Given the description of an element on the screen output the (x, y) to click on. 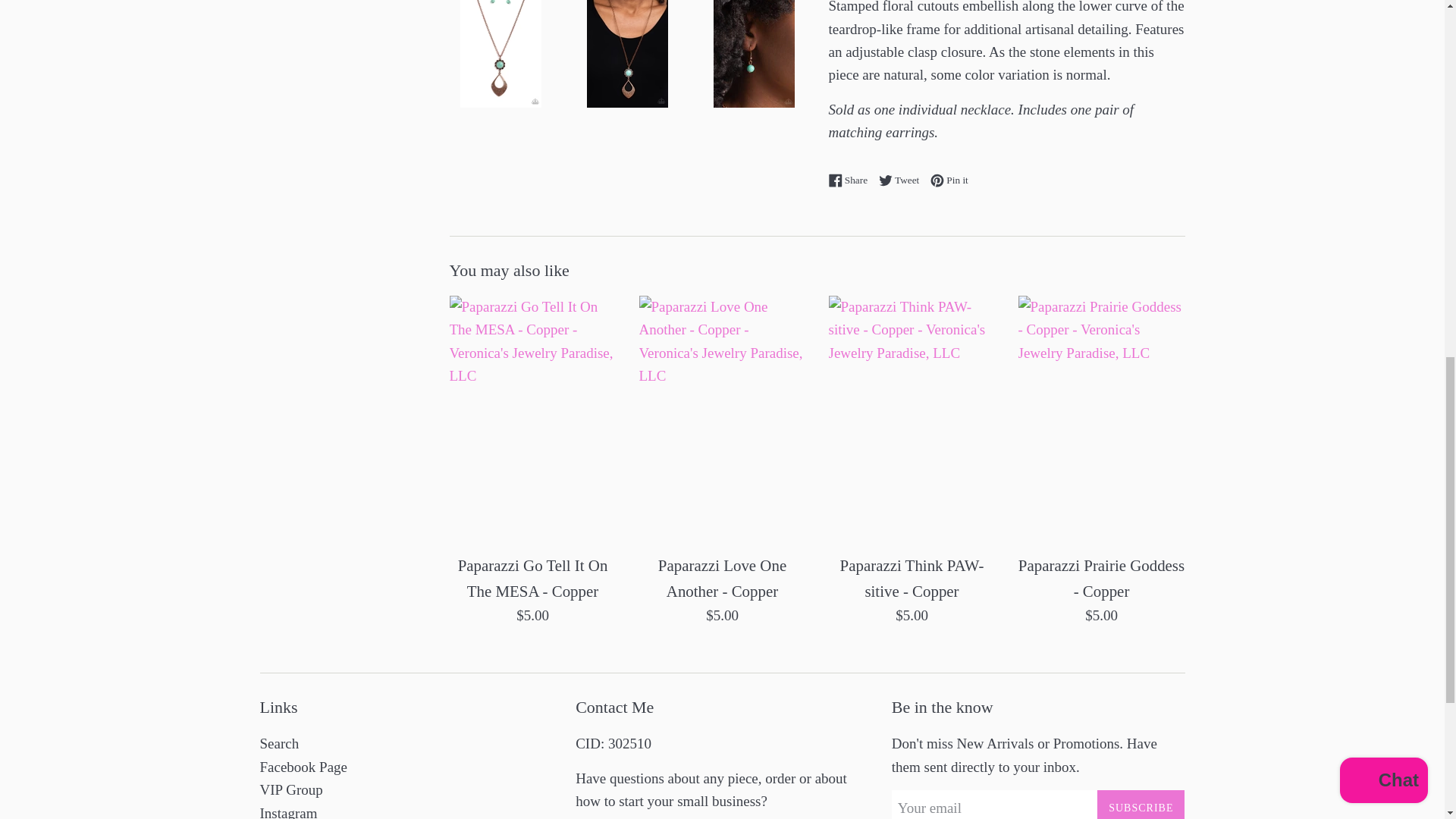
Paparazzi Think PAW-sitive - Copper (912, 577)
Paparazzi Go Tell It On The MESA - Copper (533, 577)
Tweet on Twitter (851, 179)
Share on Facebook (949, 179)
Pin on Pinterest (902, 179)
Paparazzi Love One Another - Copper (851, 179)
